Given the description of an element on the screen output the (x, y) to click on. 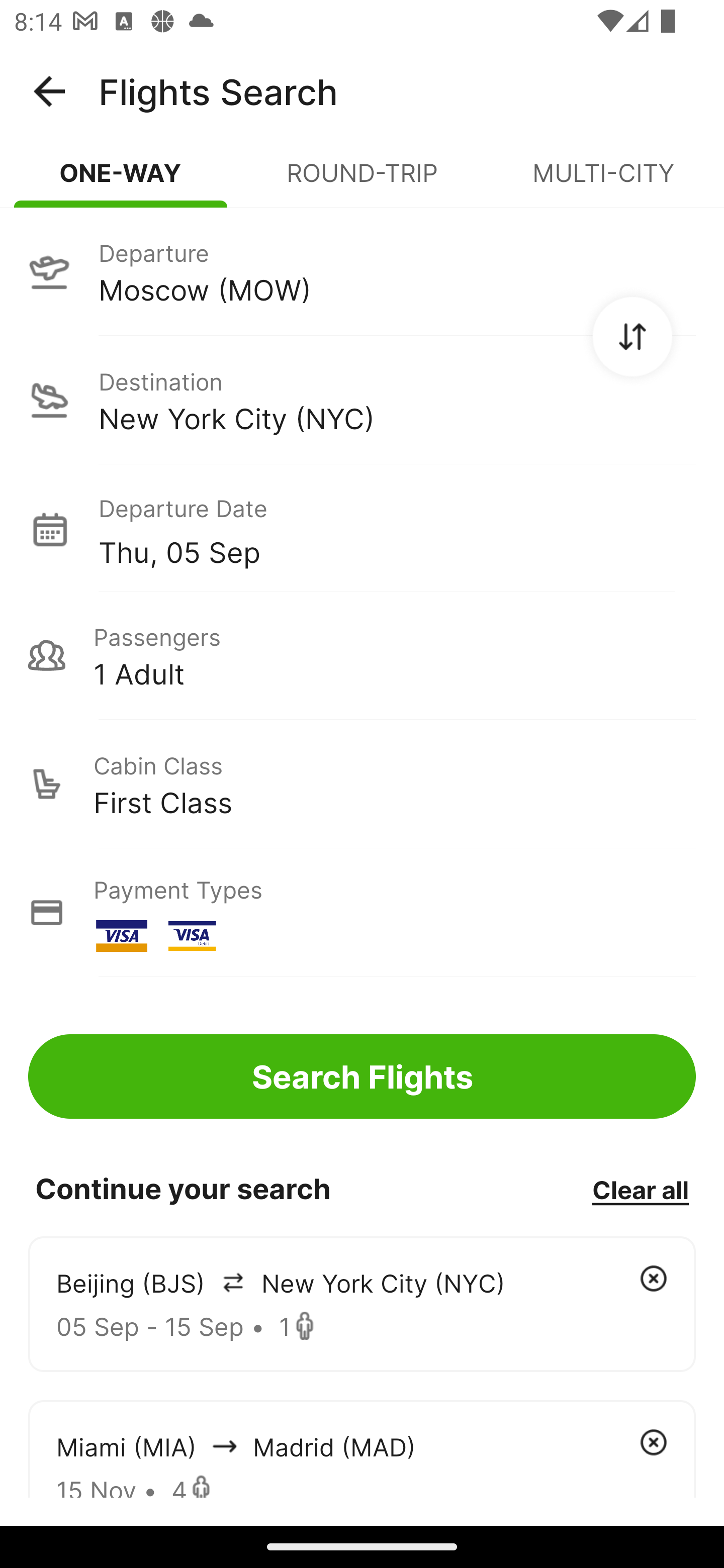
ONE-WAY (120, 180)
ROUND-TRIP (361, 180)
MULTI-CITY (603, 180)
Departure Moscow (MOW) (362, 270)
Destination New York City (NYC) (362, 400)
Departure Date Thu, 05 Sep (396, 528)
Passengers 1 Adult (362, 655)
Cabin Class First Class (362, 783)
Payment Types (362, 912)
Search Flights (361, 1075)
Clear all (640, 1189)
Miami (MIA)  arrowIcon  Madrid (MAD) 15 Nov •  4  (361, 1448)
